Given the description of an element on the screen output the (x, y) to click on. 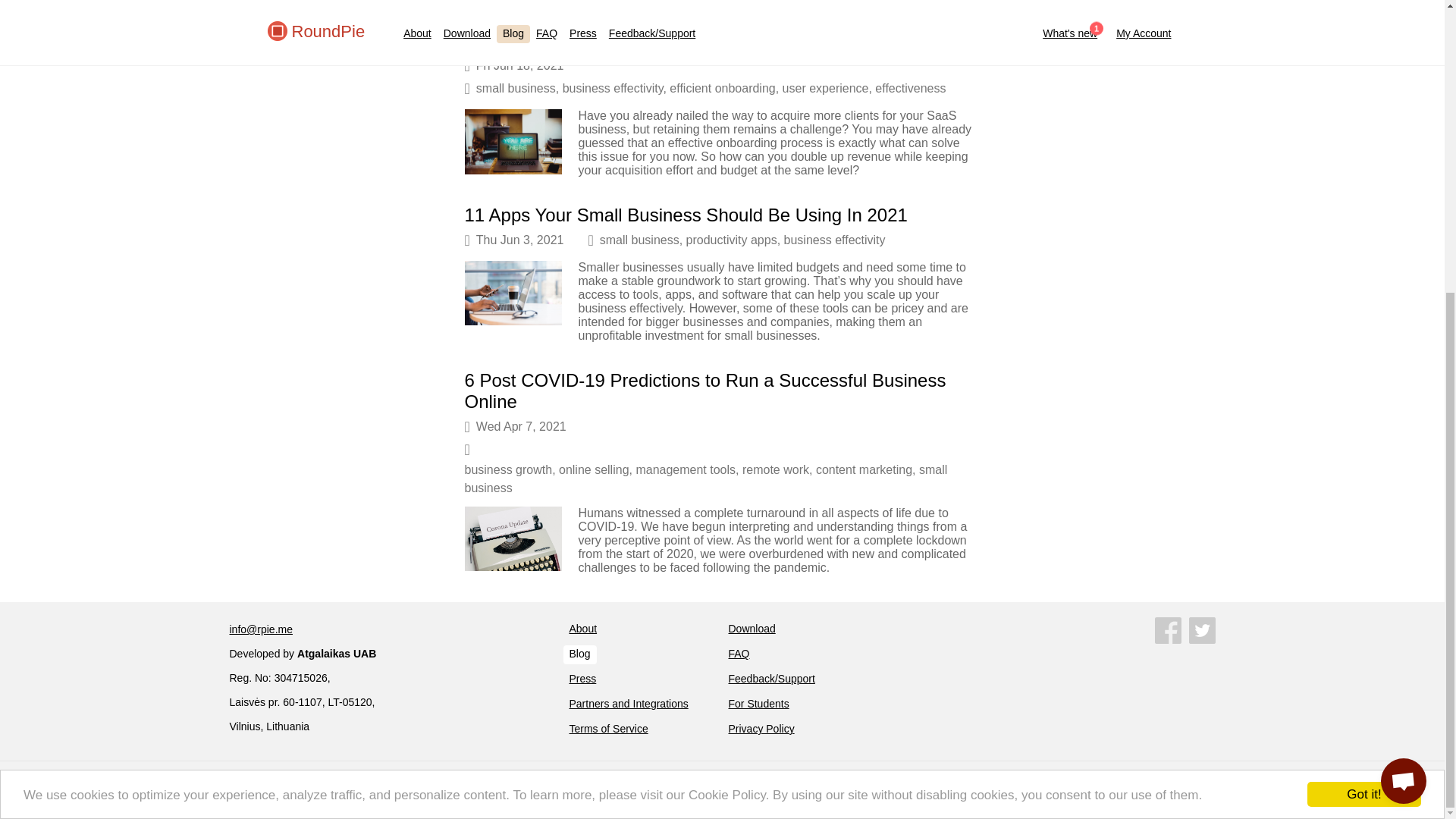
effectiveness (909, 88)
business effectivity (834, 239)
efficient onboarding (721, 88)
Download RoundPie for free! (751, 629)
small business (516, 88)
Blog. Track time and hack productivity with Tomato Technique (578, 654)
business effectivity (612, 88)
Got it! (1364, 357)
user experience (826, 88)
productivity apps (731, 239)
About (582, 629)
FAQ (738, 654)
